Given the description of an element on the screen output the (x, y) to click on. 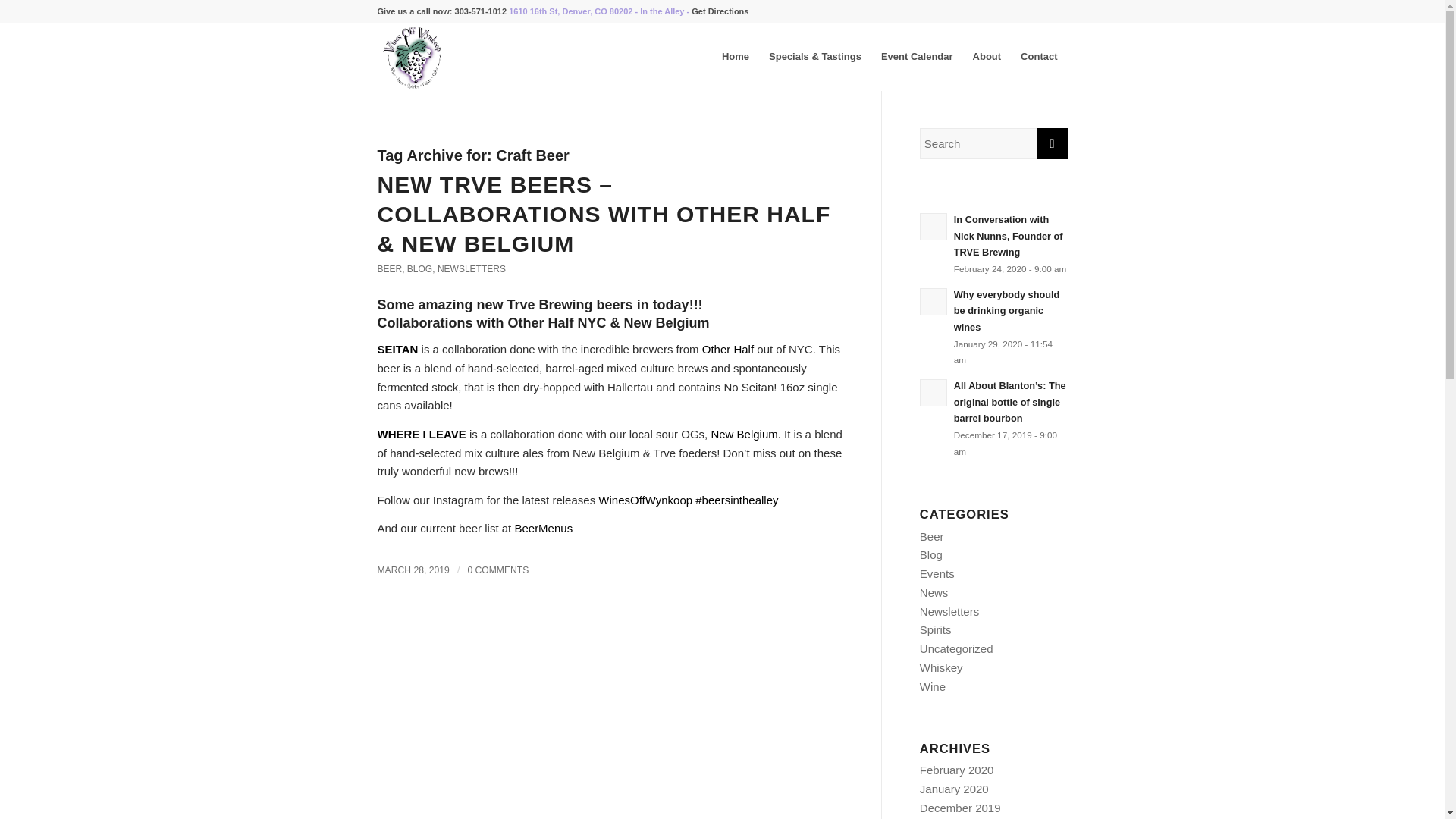
January 2020 (954, 788)
Newsletters (949, 611)
Uncategorized (956, 648)
Get Directions (719, 10)
BLOG (419, 268)
Whiskey (941, 667)
NEWSLETTERS (471, 268)
New Belgium (667, 322)
Other Half (727, 349)
